Given the description of an element on the screen output the (x, y) to click on. 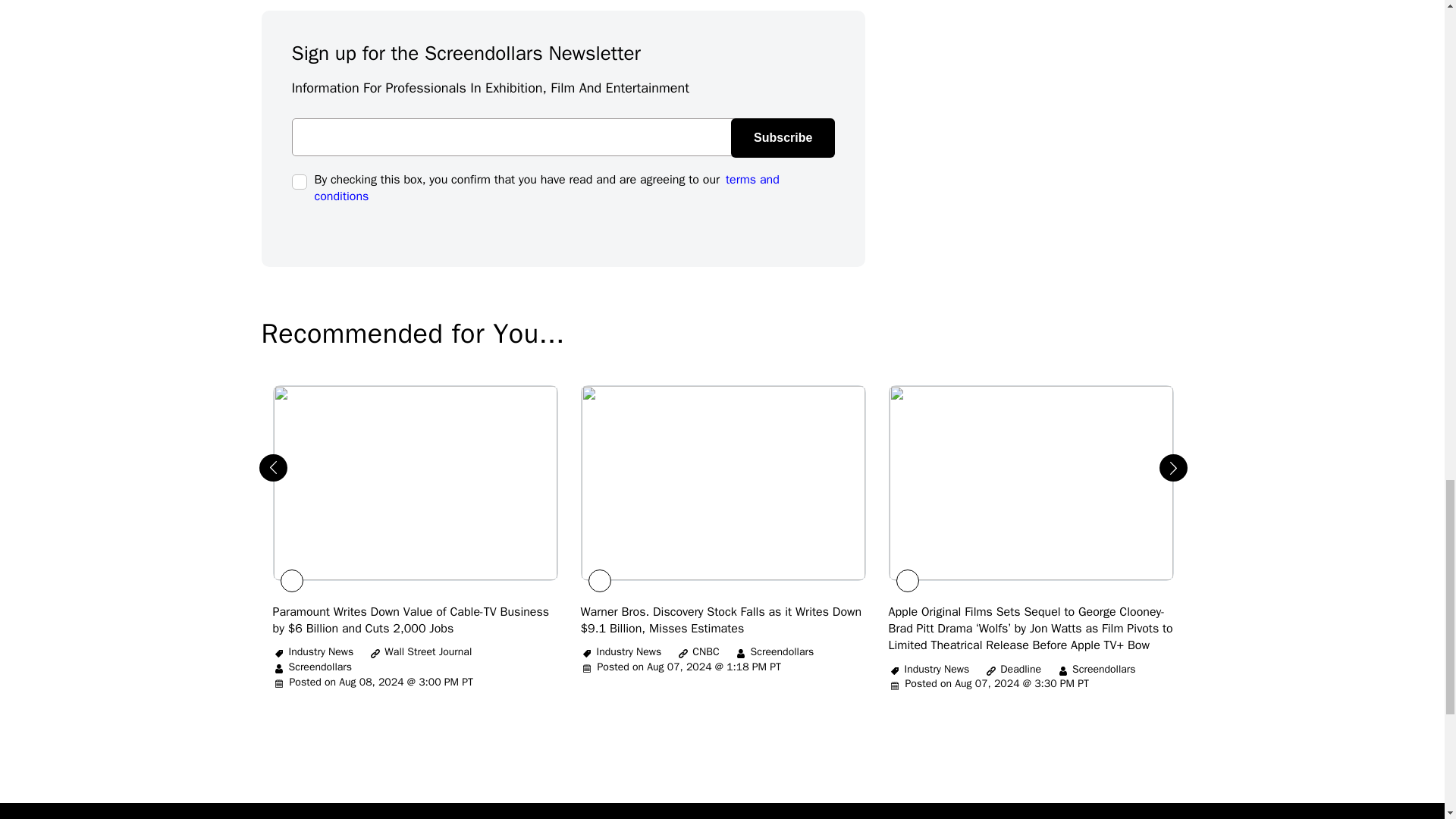
Steven Spielberg Gets Personal (1030, 628)
Subscribe (782, 137)
Previous (267, 461)
terms and conditions (546, 187)
Steven Spielberg Gets Personal (411, 620)
Steven Spielberg Gets Personal (720, 620)
